Given the description of an element on the screen output the (x, y) to click on. 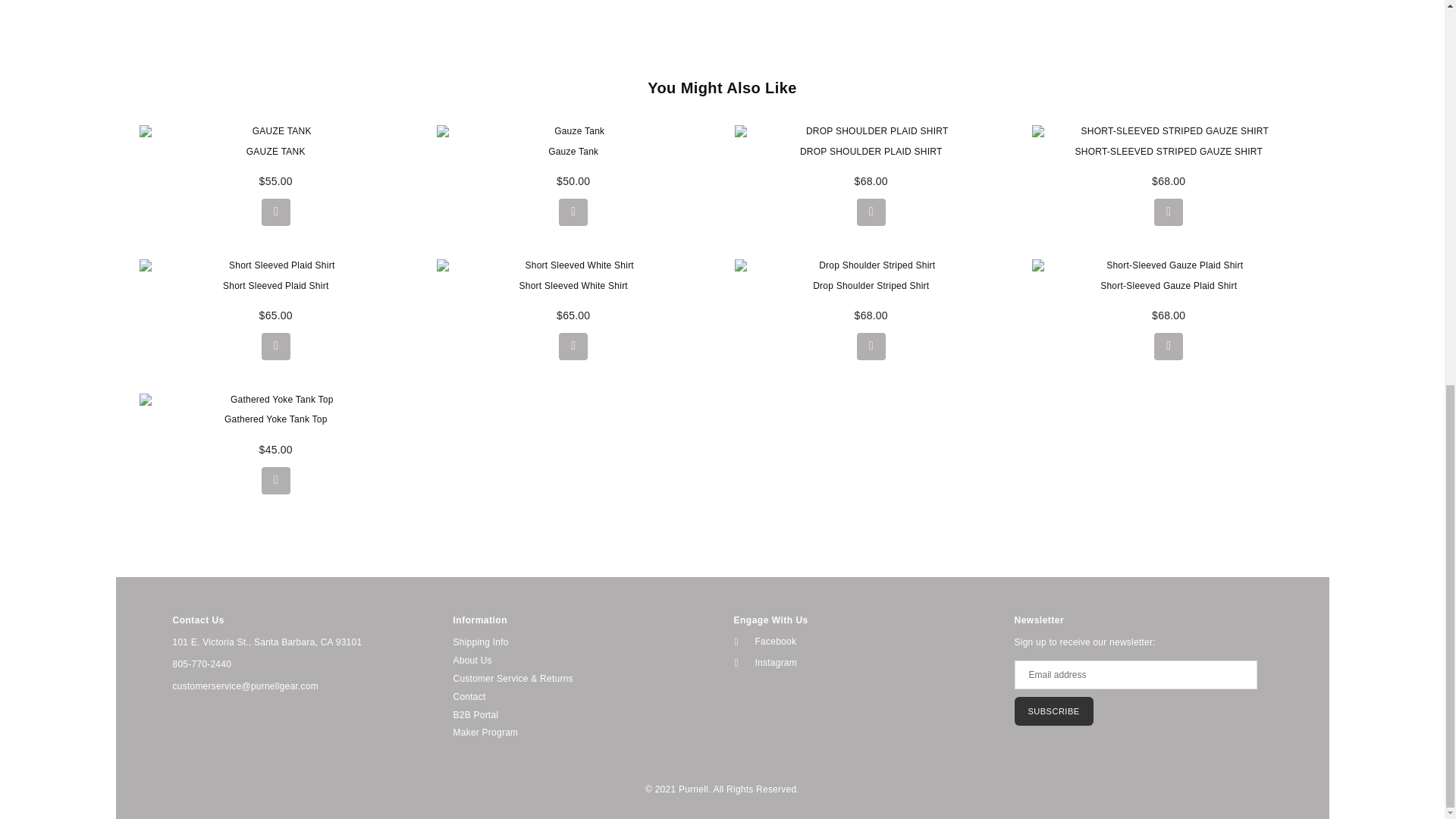
Purnell on Instagram (858, 663)
Purnell on Facebook (858, 641)
